Given the description of an element on the screen output the (x, y) to click on. 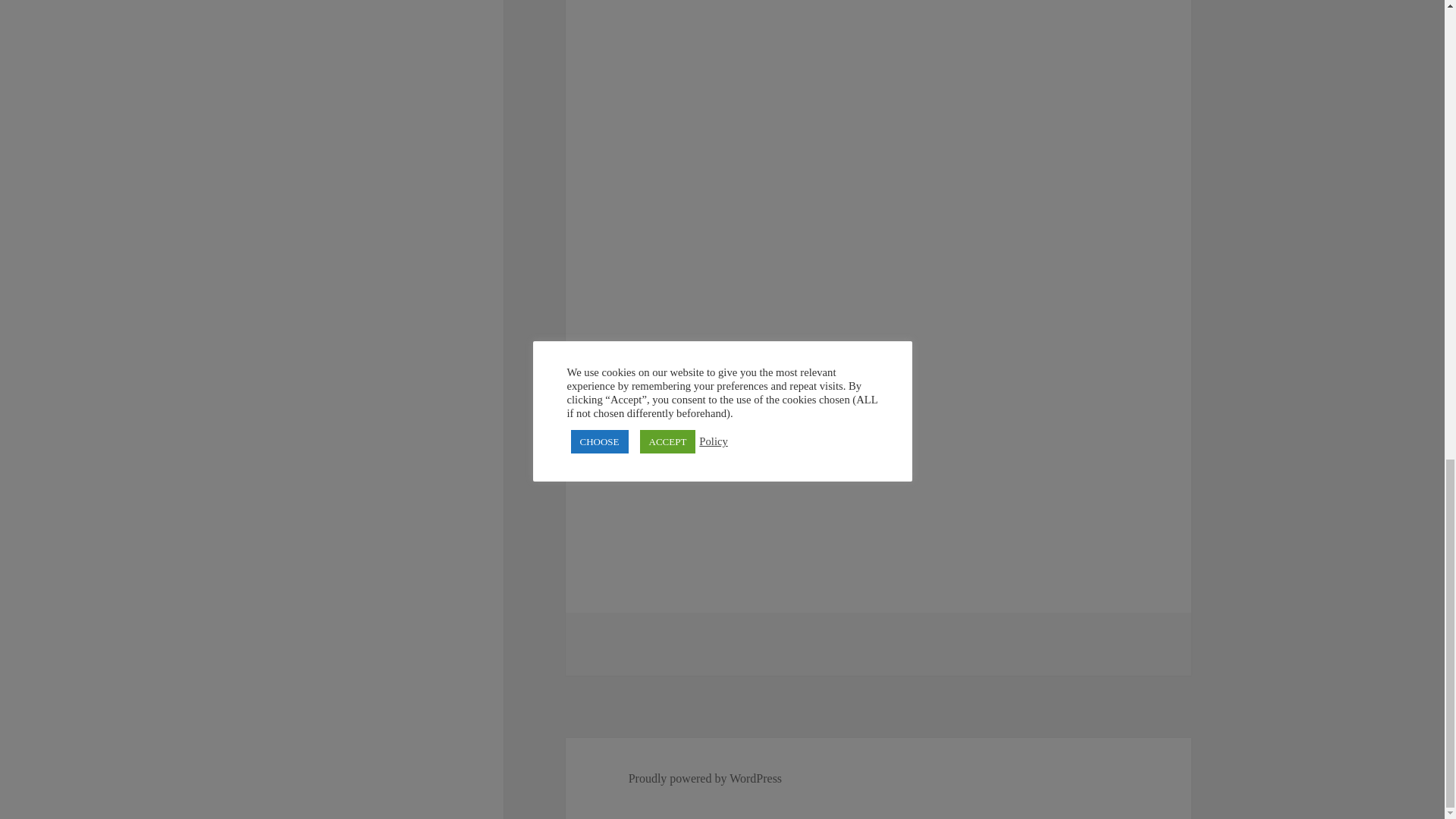
Proudly powered by WordPress (704, 778)
